Given the description of an element on the screen output the (x, y) to click on. 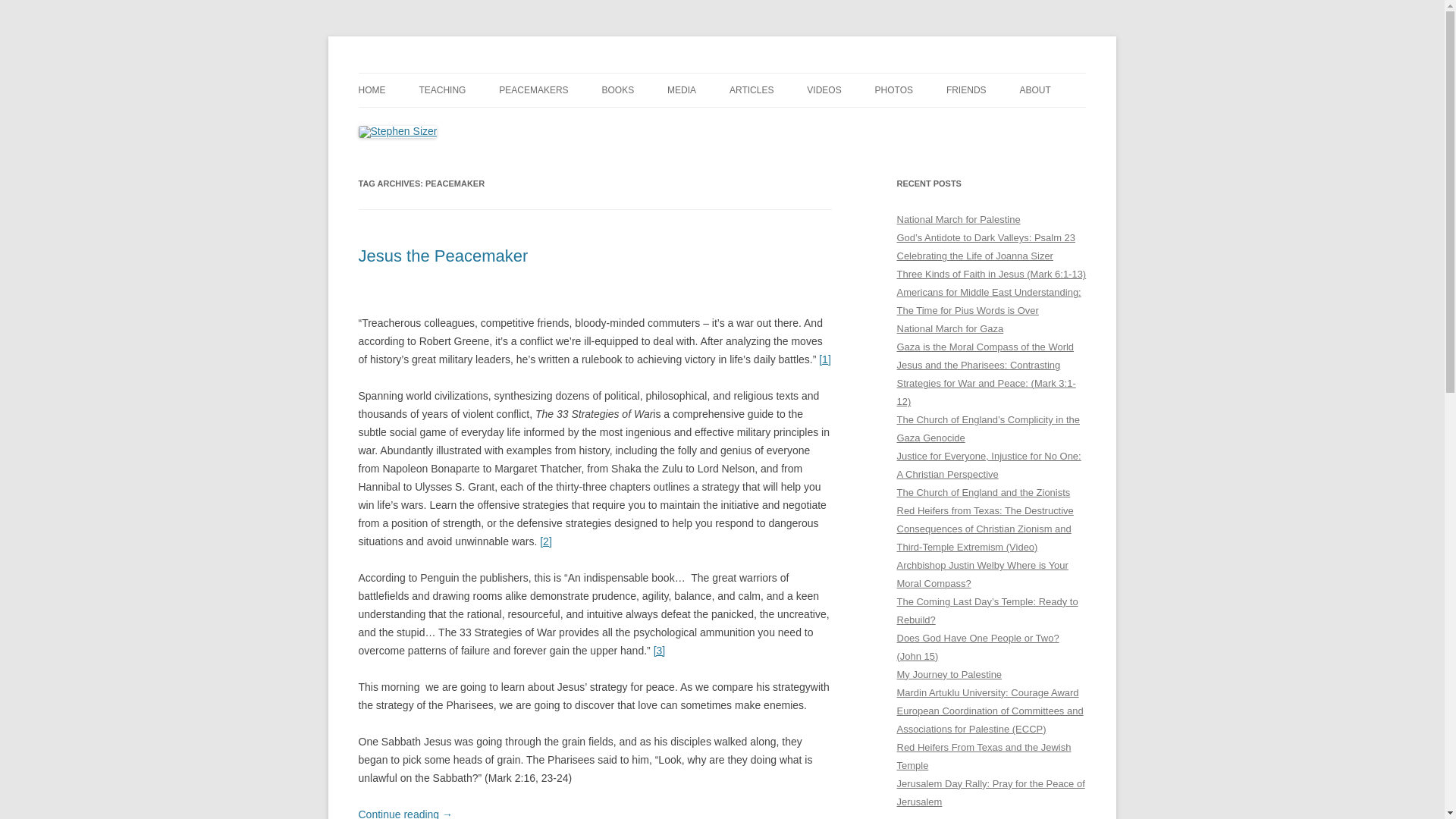
FRIENDS (966, 90)
PHOTOS (893, 90)
Stephen Sizer (422, 72)
BOOKS (618, 90)
VIDEOS (823, 90)
ABOUT (1034, 90)
PEACEMAKERS (533, 90)
ARTICLES (751, 90)
Jesus the Peacemaker (442, 255)
